Given the description of an element on the screen output the (x, y) to click on. 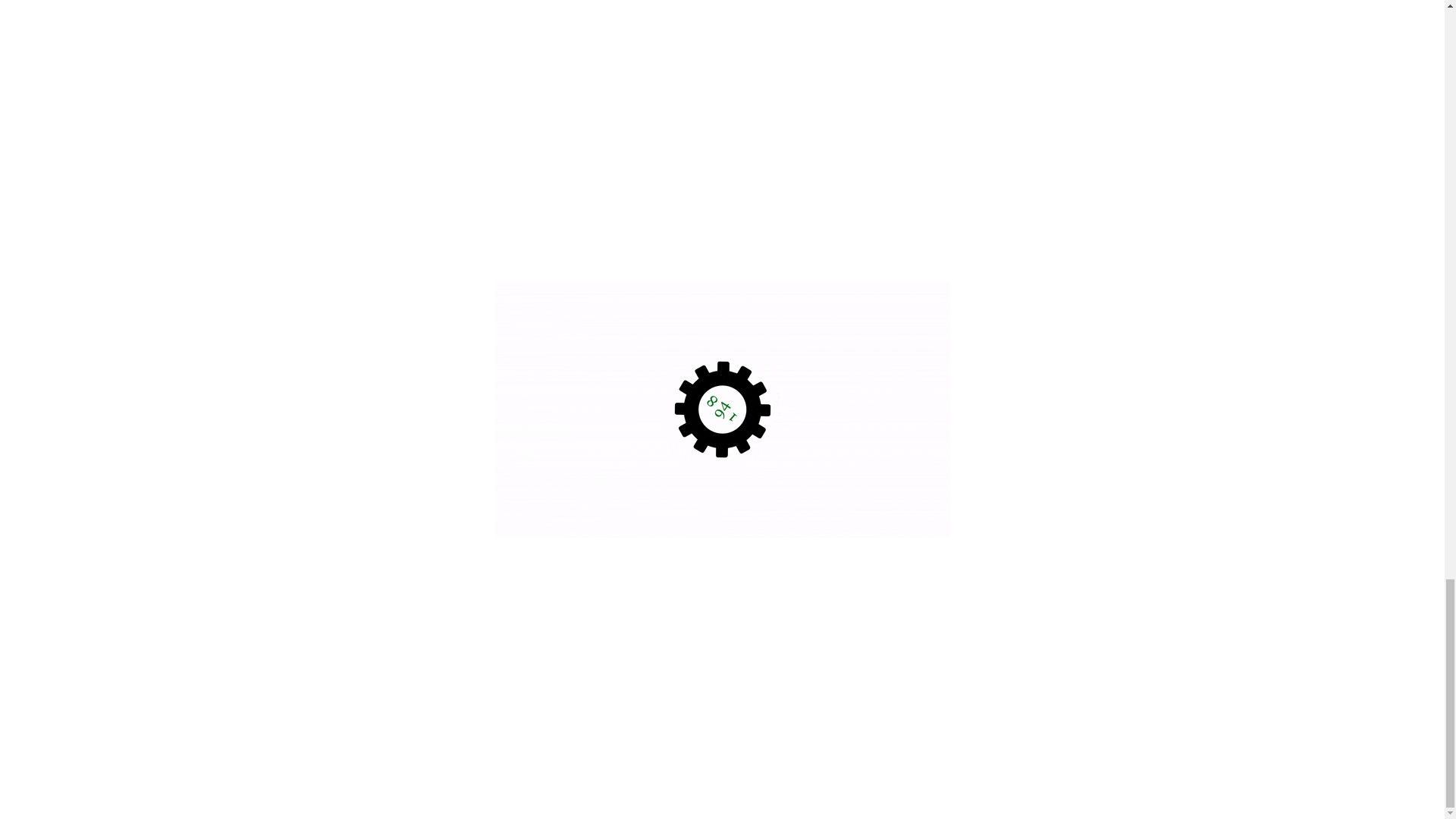
logged in (457, 307)
PRIVACY POLICY (1136, 571)
Back to all projects (721, 421)
Previous Project (420, 425)
Next Project (1032, 425)
